Given the description of an element on the screen output the (x, y) to click on. 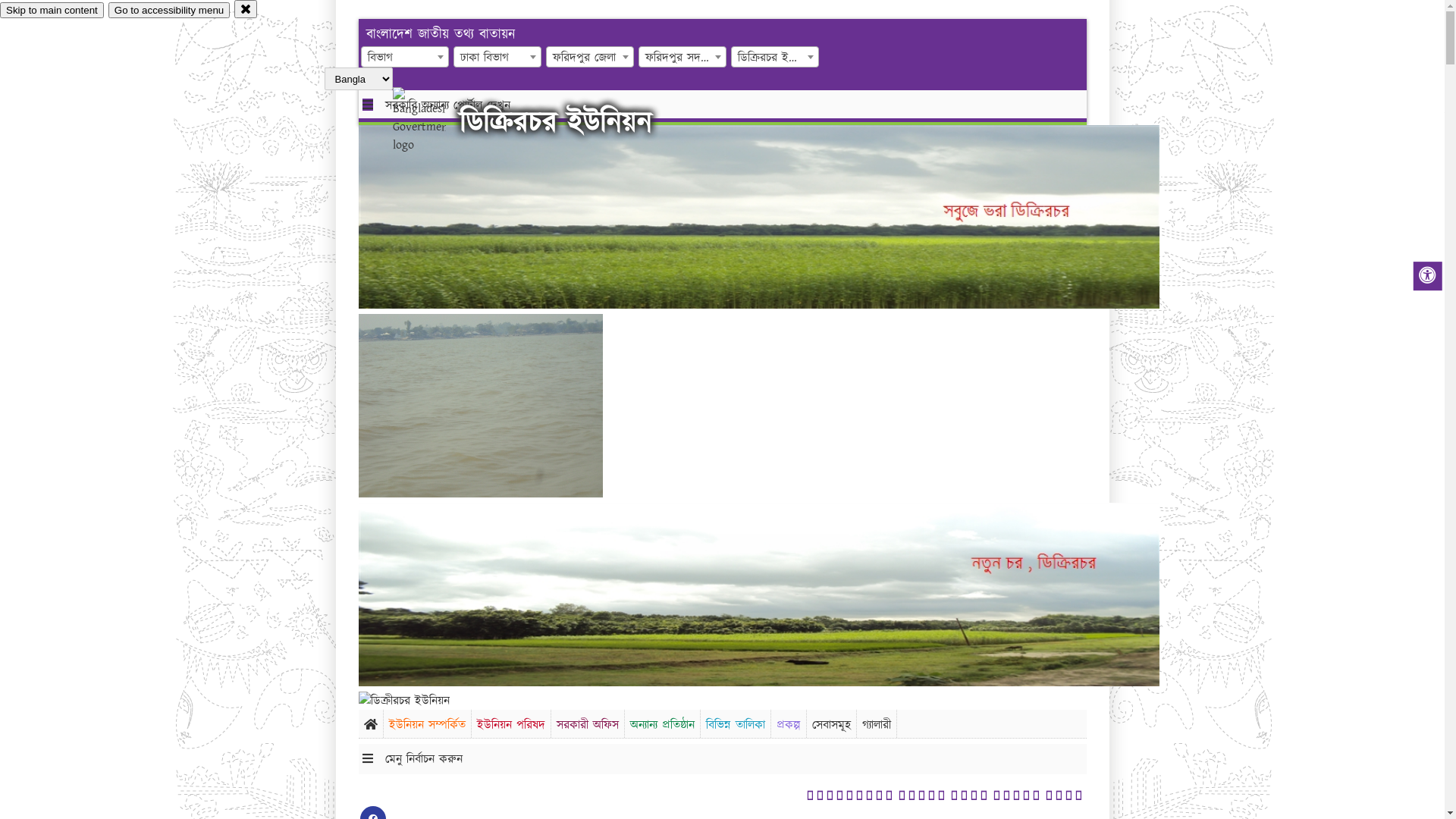

                
             Element type: hover (431, 120)
Go to accessibility menu Element type: text (168, 10)
Skip to main content Element type: text (51, 10)
close Element type: hover (245, 9)
